Given the description of an element on the screen output the (x, y) to click on. 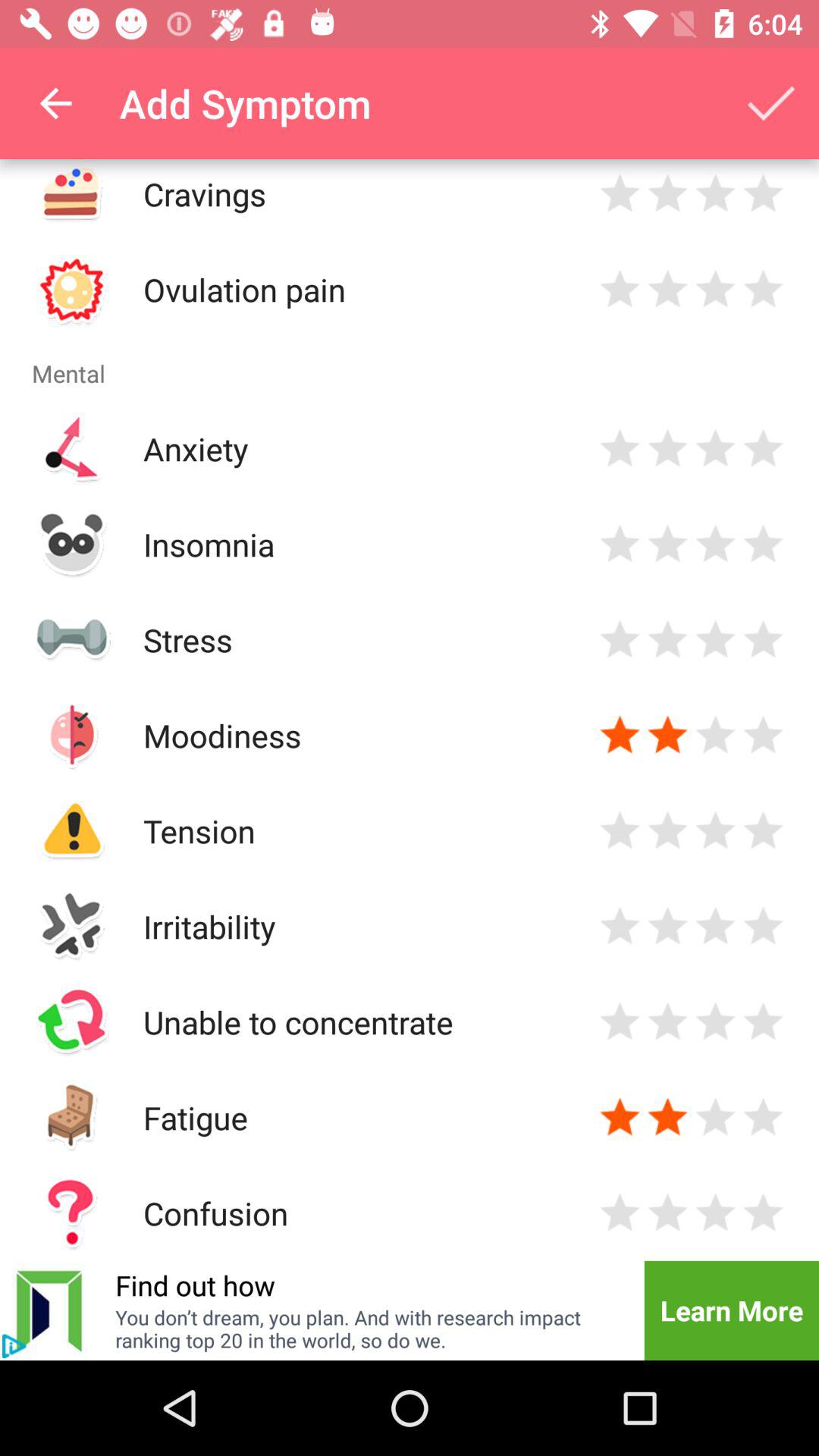
rate pain (763, 289)
